Given the description of an element on the screen output the (x, y) to click on. 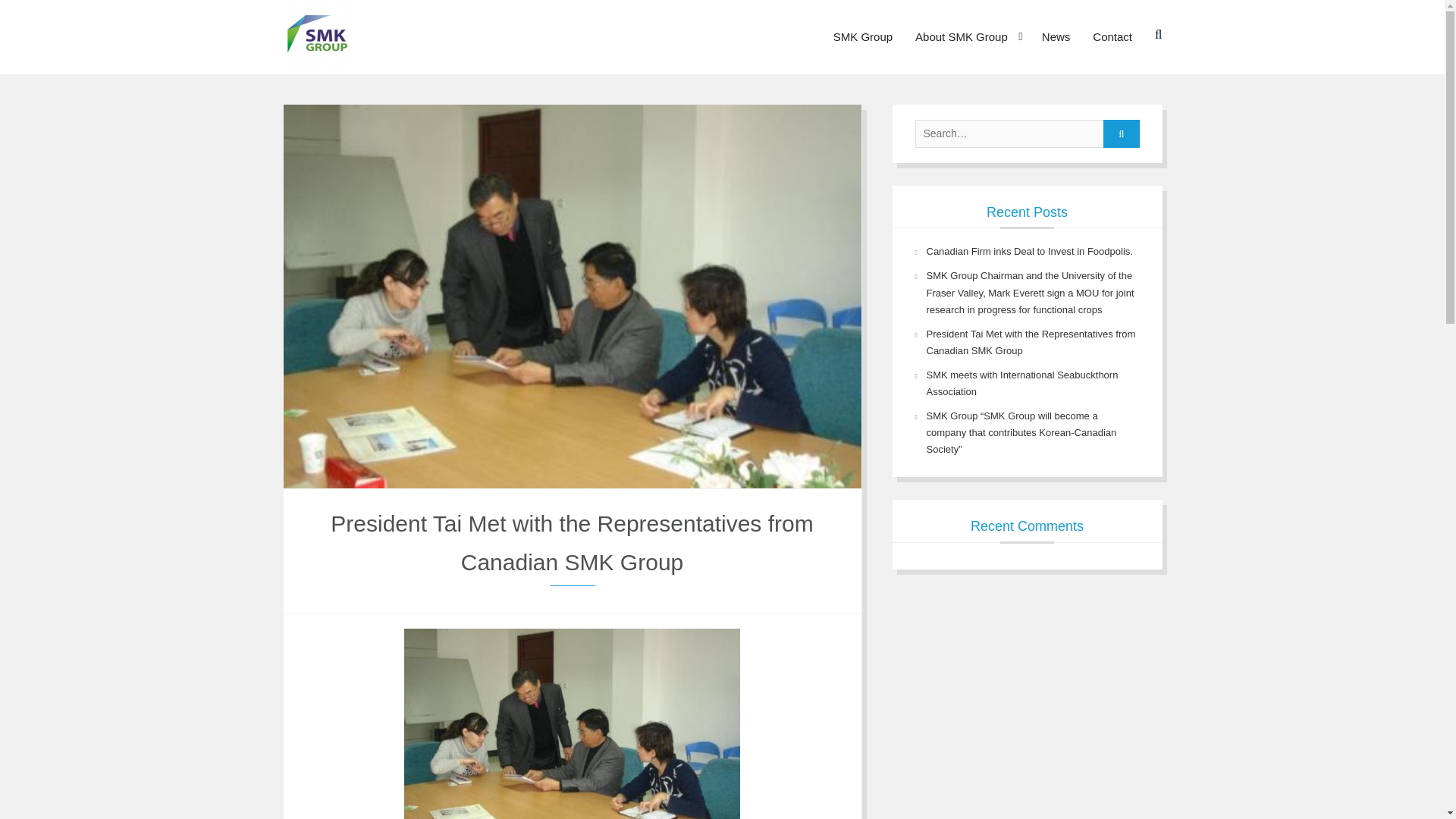
About SMK Group (967, 37)
SMK meets with International Seabuckthorn Association (1022, 383)
Canadian Firm inks Deal to Invest in Foodpolis. (1029, 251)
SMK Group (863, 37)
